Given the description of an element on the screen output the (x, y) to click on. 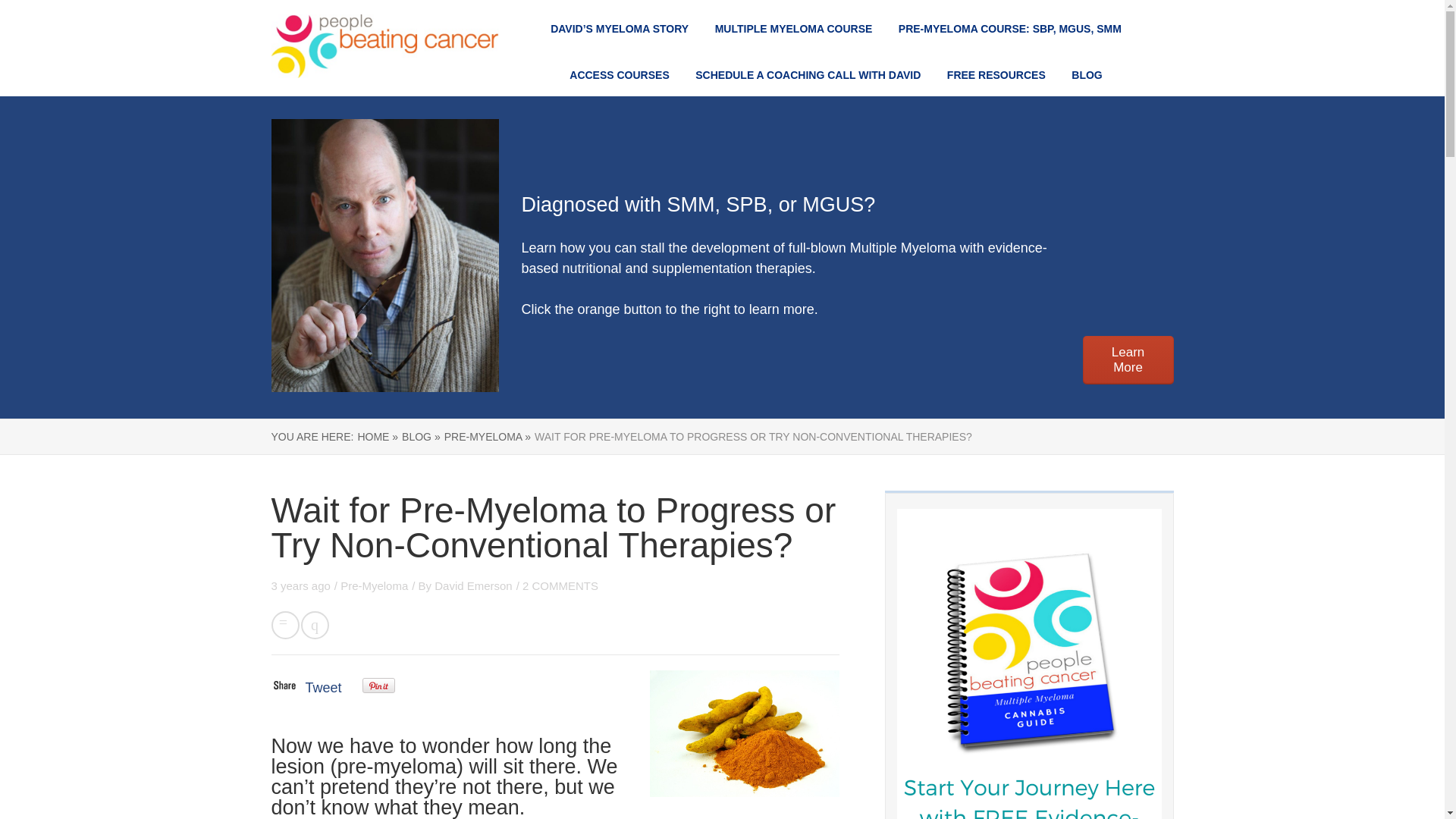
MULTIPLE MYELOMA COURSE (793, 28)
Pre-Myeloma (373, 585)
FREE RESOURCES (996, 74)
ACCESS COURSES (618, 74)
PRE-MYELOMA COURSE: SBP, MGUS, SMM (1009, 28)
BLOG (1086, 74)
SCHEDULE A COACHING CALL WITH DAVID (807, 74)
Pin It (378, 685)
Learn More (1128, 359)
2 COMMENTS (560, 585)
